Given the description of an element on the screen output the (x, y) to click on. 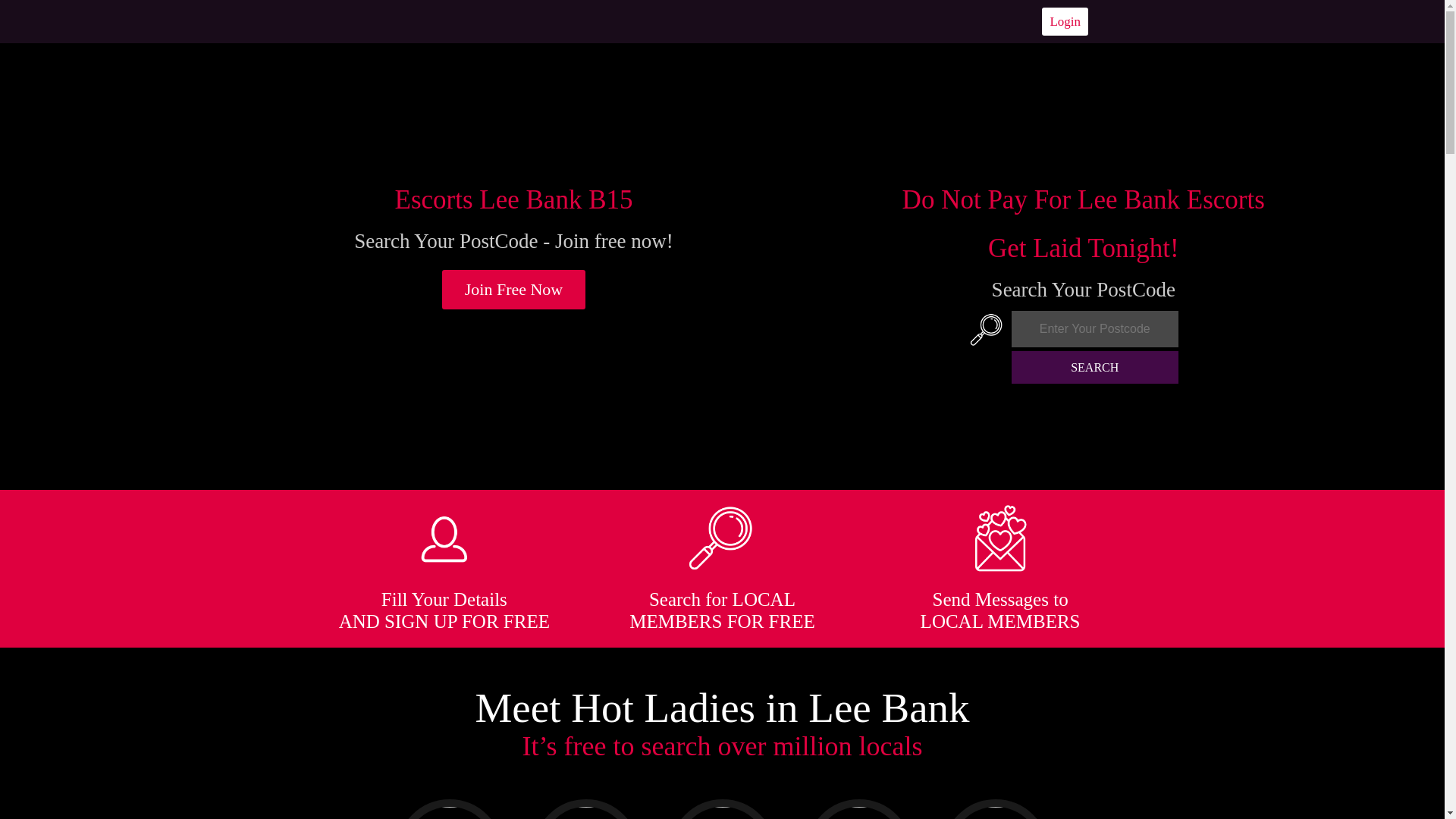
Login (1064, 21)
Join (514, 289)
SEARCH (1094, 367)
Join Free Now (514, 289)
Login (1064, 21)
